Given the description of an element on the screen output the (x, y) to click on. 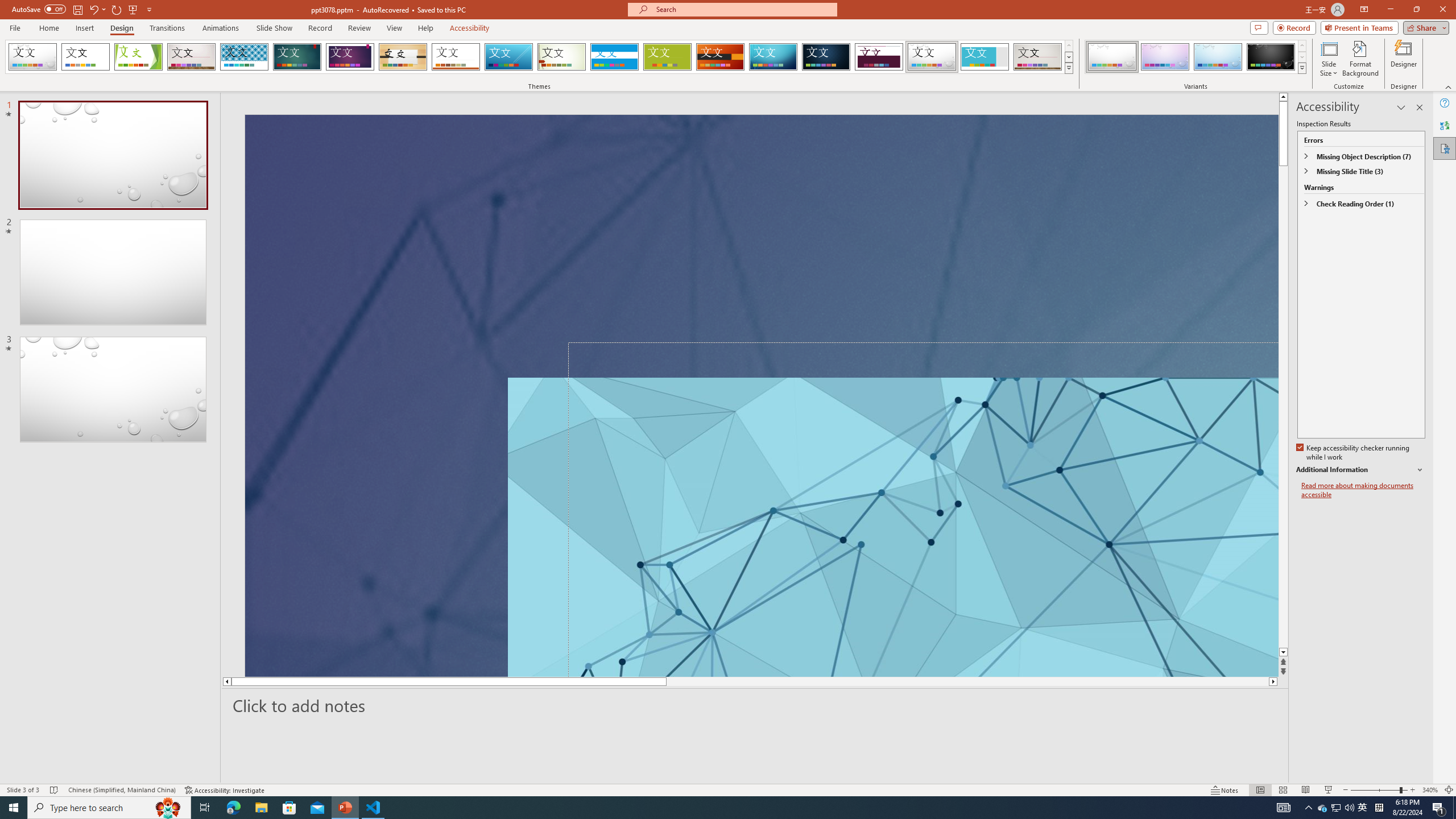
Basis (667, 56)
